Given the description of an element on the screen output the (x, y) to click on. 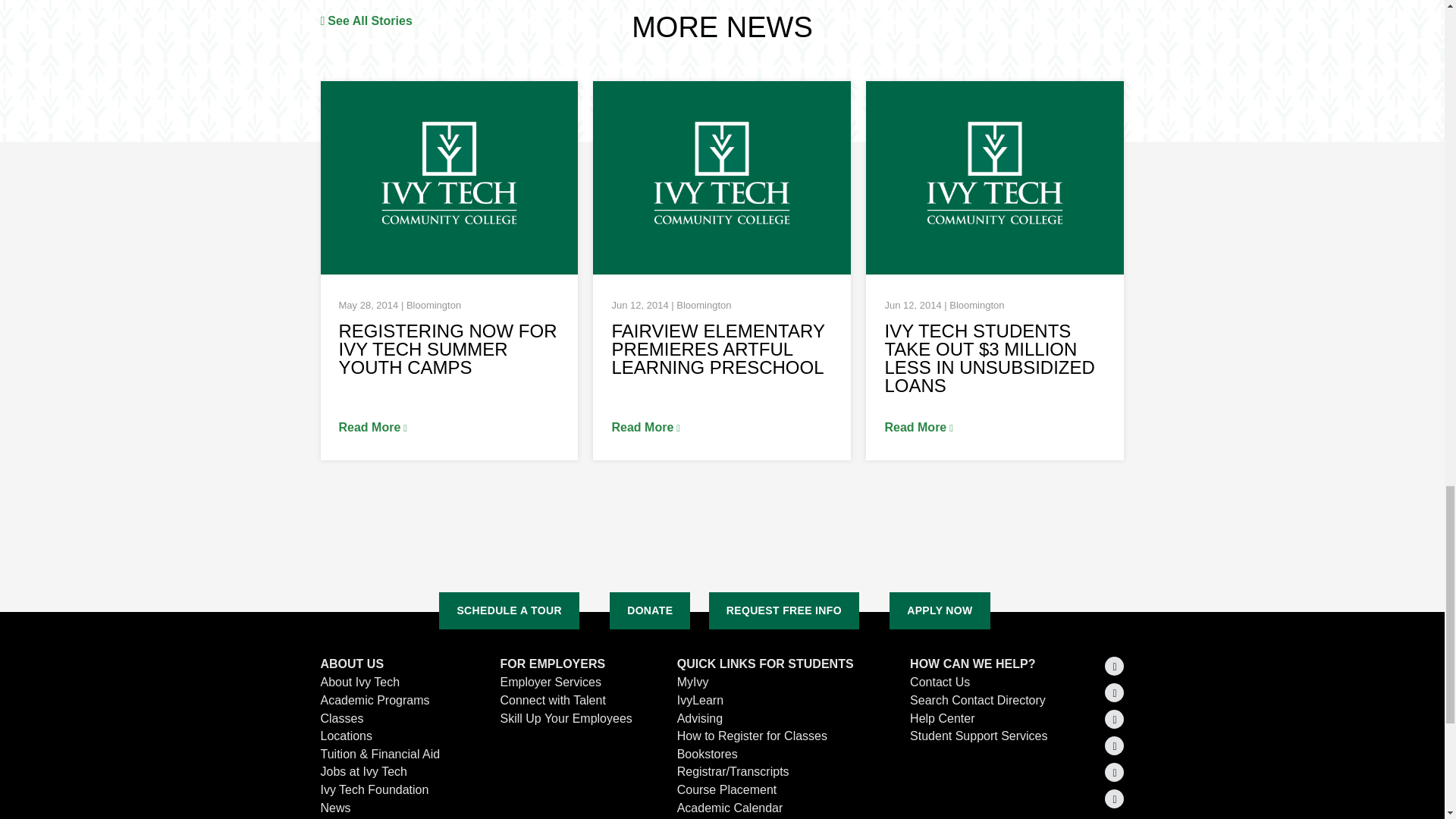
LinkedIn (1114, 692)
Instagram (1114, 745)
Glassdoor (1114, 798)
Twitter (1114, 665)
Facebook (1114, 719)
YouTube (1114, 772)
